Given the description of an element on the screen output the (x, y) to click on. 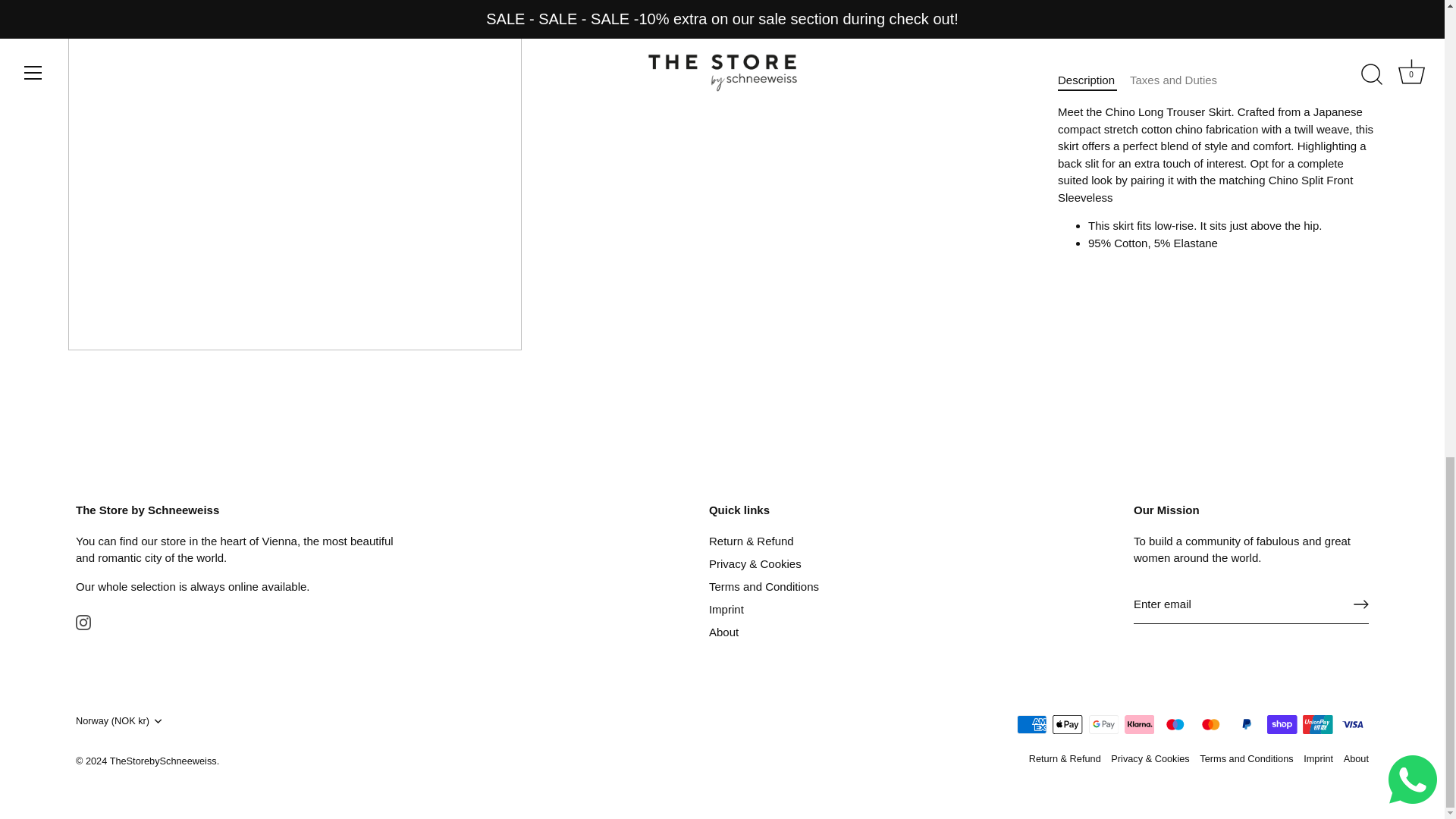
Maestro (1174, 723)
Google Pay (1104, 723)
Klarna (1139, 723)
PayPal (1245, 723)
Visa (1353, 723)
Shop Pay (1281, 723)
RIGHT ARROW LONG (1361, 604)
Mastercard (1210, 723)
American Express (1031, 723)
Instagram (82, 622)
